Given the description of an element on the screen output the (x, y) to click on. 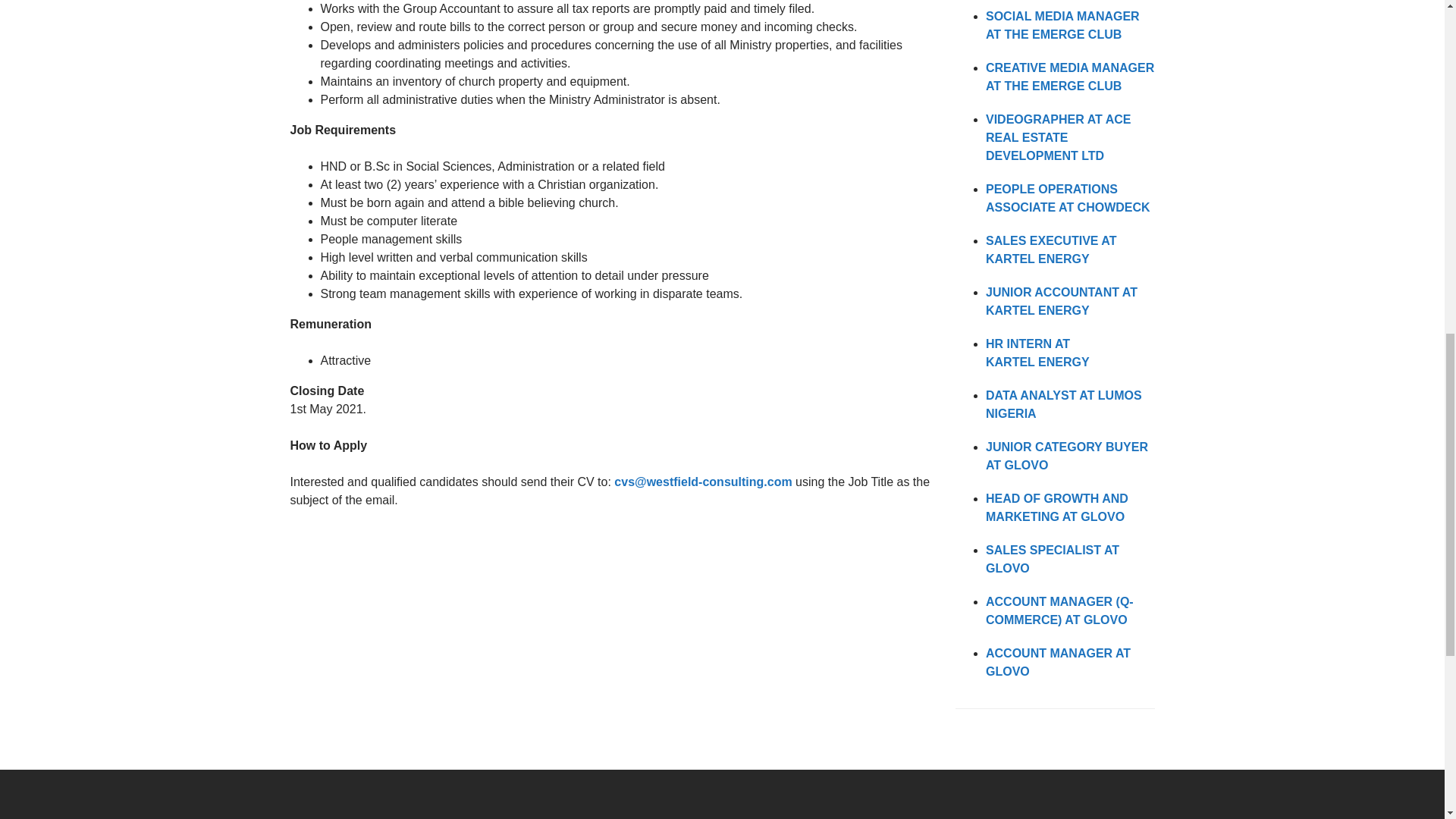
JUNIOR CATEGORY BUYER AT GLOVO (1066, 455)
DATA ANALYST AT LUMOS NIGERIA (1063, 404)
SALES EXECUTIVE AT KARTEL ENERGY (1050, 249)
JUNIOR ACCOUNTANT AT KARTEL ENERGY (1061, 300)
VIDEOGRAPHER AT ACE REAL ESTATE DEVELOPMENT LTD (1058, 137)
ACCOUNT MANAGER AT GLOVO (1058, 662)
SOCIAL MEDIA MANAGER AT THE EMERGE CLUB (1062, 24)
CREATIVE MEDIA MANAGER AT THE EMERGE CLUB (1069, 76)
HEAD OF GROWTH AND MARKETING AT GLOVO (1056, 507)
SALES SPECIALIST AT GLOVO (1052, 558)
